Given the description of an element on the screen output the (x, y) to click on. 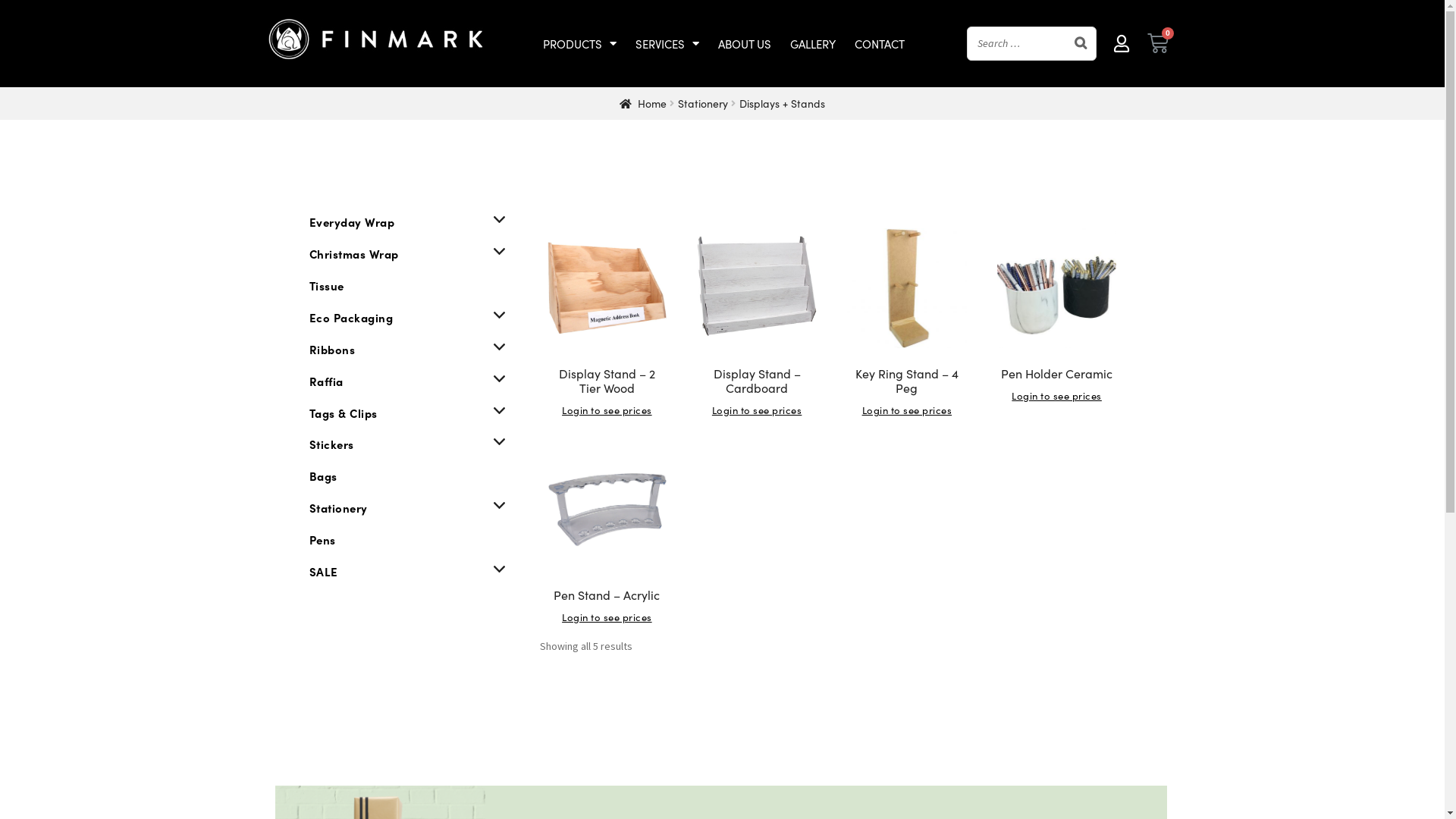
Eco Packaging Element type: text (351, 317)
SALE Element type: text (323, 571)
Tissue Element type: text (326, 285)
Ribbons Element type: text (332, 349)
Christmas Wrap Element type: text (353, 253)
Stationery Element type: text (338, 507)
SERVICES Element type: text (667, 43)
Stickers Element type: text (331, 443)
Login to see prices Element type: text (757, 409)
Tags & Clips Element type: text (343, 412)
ABOUT US Element type: text (744, 43)
Raffia Element type: text (326, 381)
Login to see prices Element type: text (606, 409)
Login to see prices Element type: text (606, 616)
CONTACT Element type: text (879, 43)
Home Element type: text (642, 102)
Pen Holder Ceramic Element type: text (1057, 303)
Bags Element type: text (323, 475)
GALLERY Element type: text (812, 43)
Everyday Wrap Element type: text (352, 221)
Login to see prices Element type: text (907, 409)
Login to see prices Element type: text (1056, 395)
Pens Element type: text (322, 539)
Stationery Element type: text (702, 102)
PRODUCTS Element type: text (579, 43)
